Given the description of an element on the screen output the (x, y) to click on. 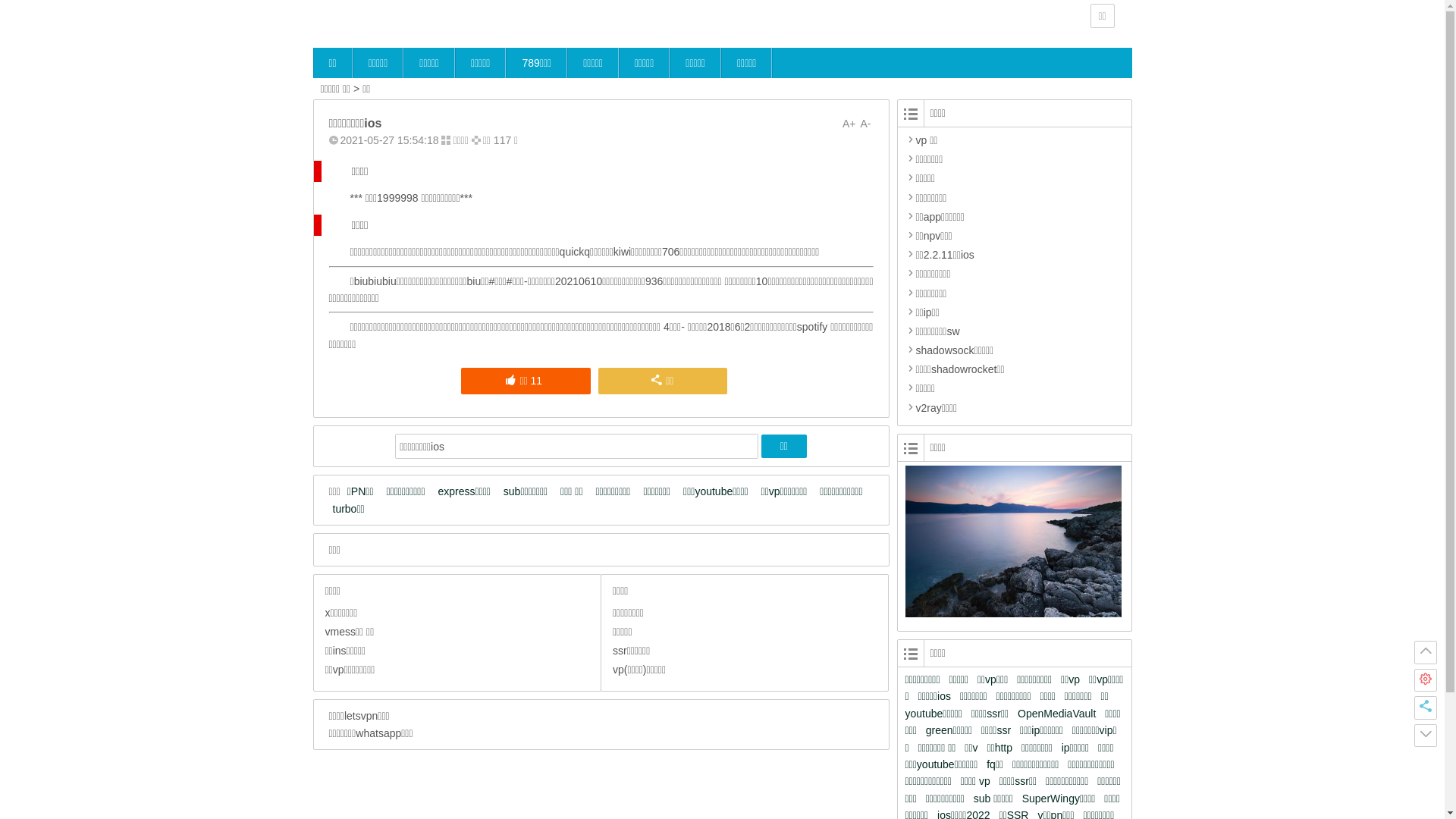
OpenMediaVault Element type: text (1059, 713)
